Given the description of an element on the screen output the (x, y) to click on. 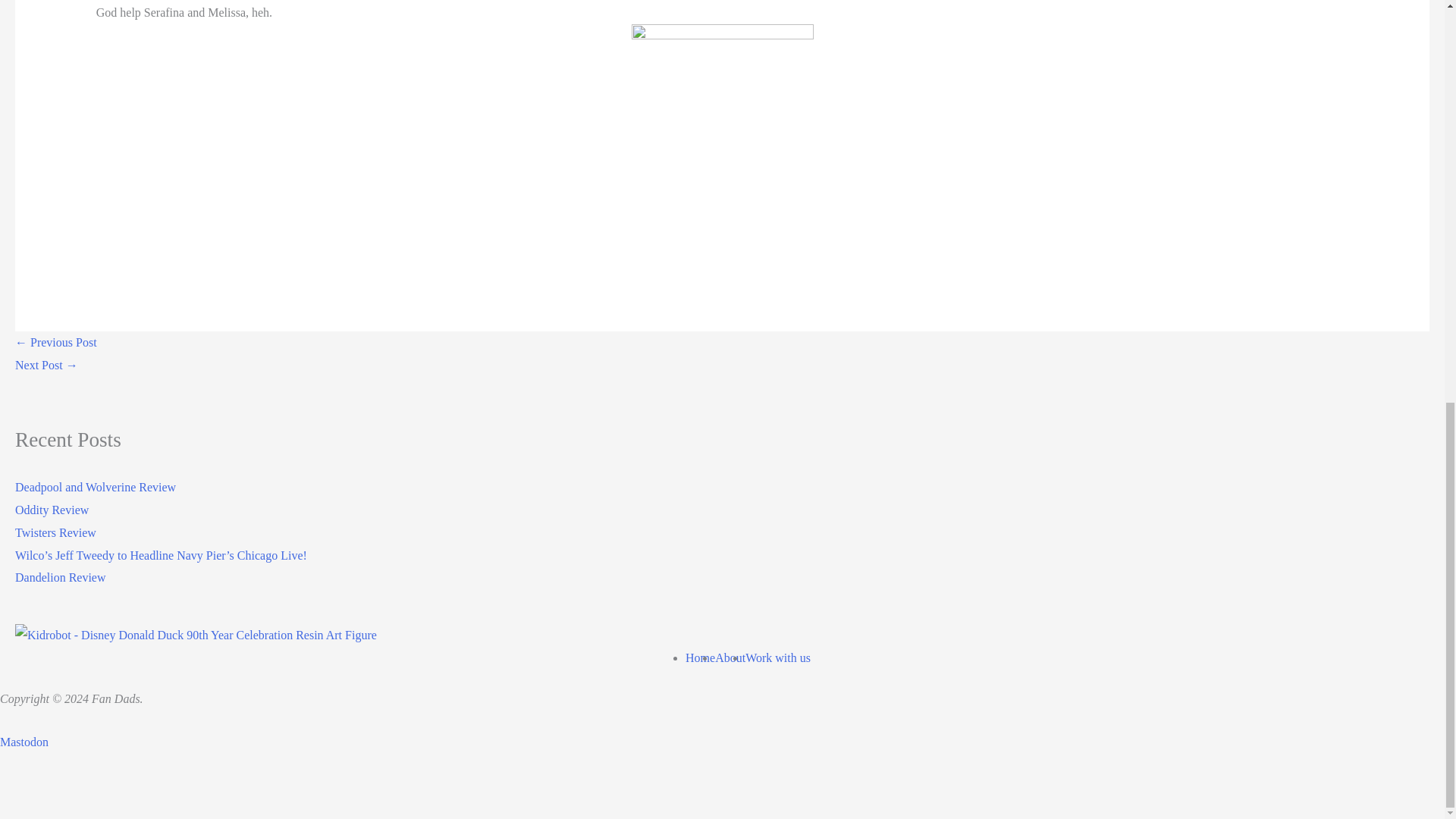
Twisters Review (55, 532)
Video Game Time Halo: Reach Edition (46, 364)
Dandelion Review (60, 576)
Deadpool and Wolverine Review (95, 486)
Talkin' Baseball (55, 341)
Oddity Review (51, 509)
